Given the description of an element on the screen output the (x, y) to click on. 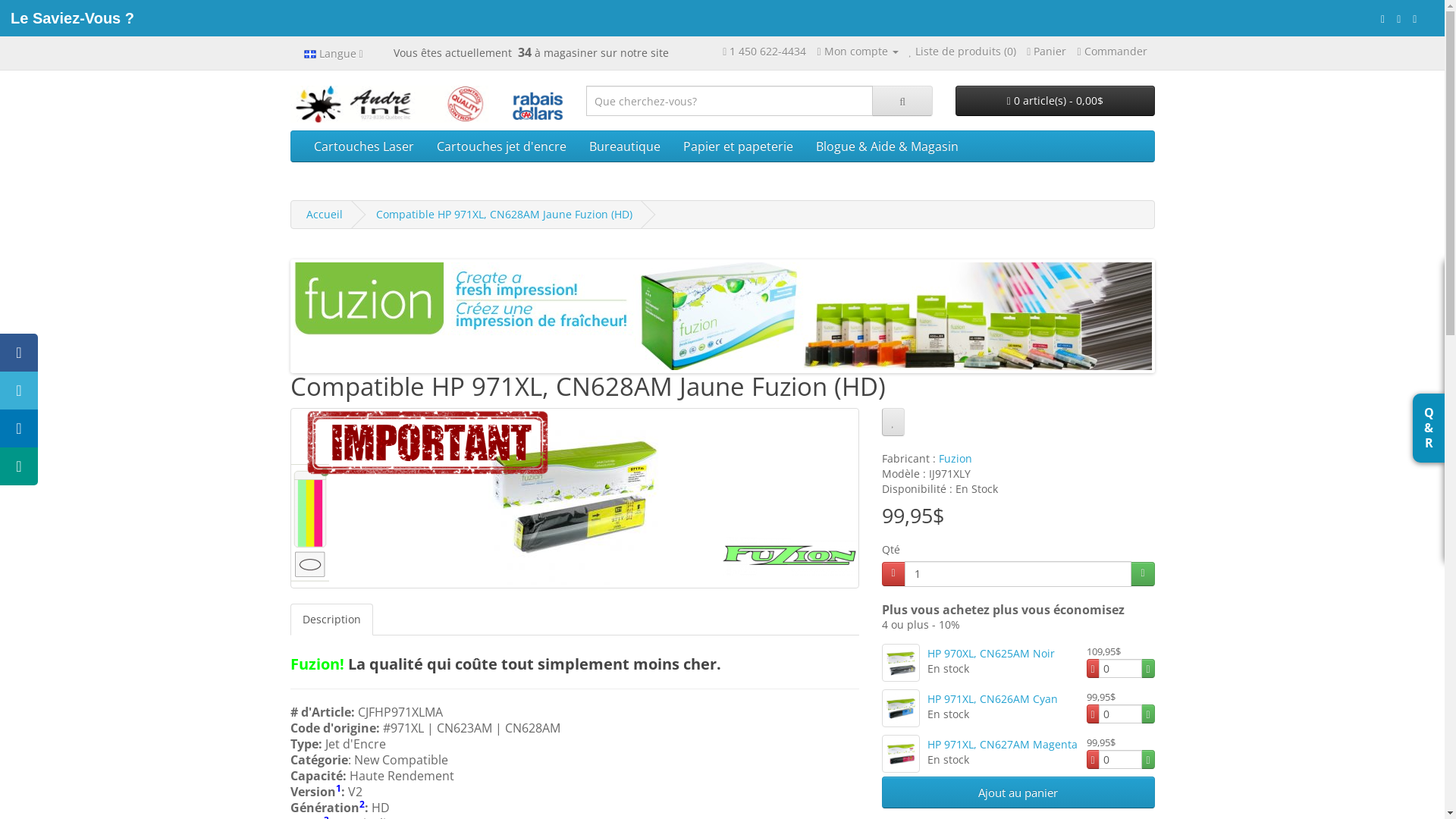
Commander Element type: text (1111, 50)
1 450 622-4434 Element type: text (767, 50)
Description Element type: text (330, 619)
Fuzion Element type: text (955, 458)
Ajout au panier Element type: text (1017, 792)
HP 971XL, CN627AM Magenta Element type: text (1001, 744)
HP 970XL, CN625AM Noir Element type: text (990, 653)
Blogue & Aide & Magasin Element type: text (886, 146)
Panier Element type: text (1046, 50)
Compatible HP 971XL, CN628AM Jaune Fuzion (HD) Element type: text (504, 214)
HP 971XL, CN627AM Magenta Element type: hover (900, 753)
Compatible HP 971XL, CN628AM Jaune Fuzion (HD) Element type: hover (573, 497)
Mon compte Element type: text (856, 50)
0 article(s) - 0,00$ Element type: text (1054, 100)
HP 970XL, CN625AM Noir  Element type: hover (900, 662)
Accueil Element type: text (324, 214)
HP 971XL, CN626AM Cyan Element type: text (991, 698)
HP 971XL, CN626AM Cyan Element type: hover (900, 708)
Bureautique Element type: text (624, 146)
Cartouches Laser Element type: text (362, 146)
Compatible HP 971XL, CN628AM Jaune Fuzion (HD) Element type: hover (574, 497)
Cartouches jet d'encre Element type: text (500, 146)
Liste de produits (0) Element type: text (962, 50)
Papier et papeterie Element type: text (737, 146)
Langue Element type: text (333, 53)
